Given the description of an element on the screen output the (x, y) to click on. 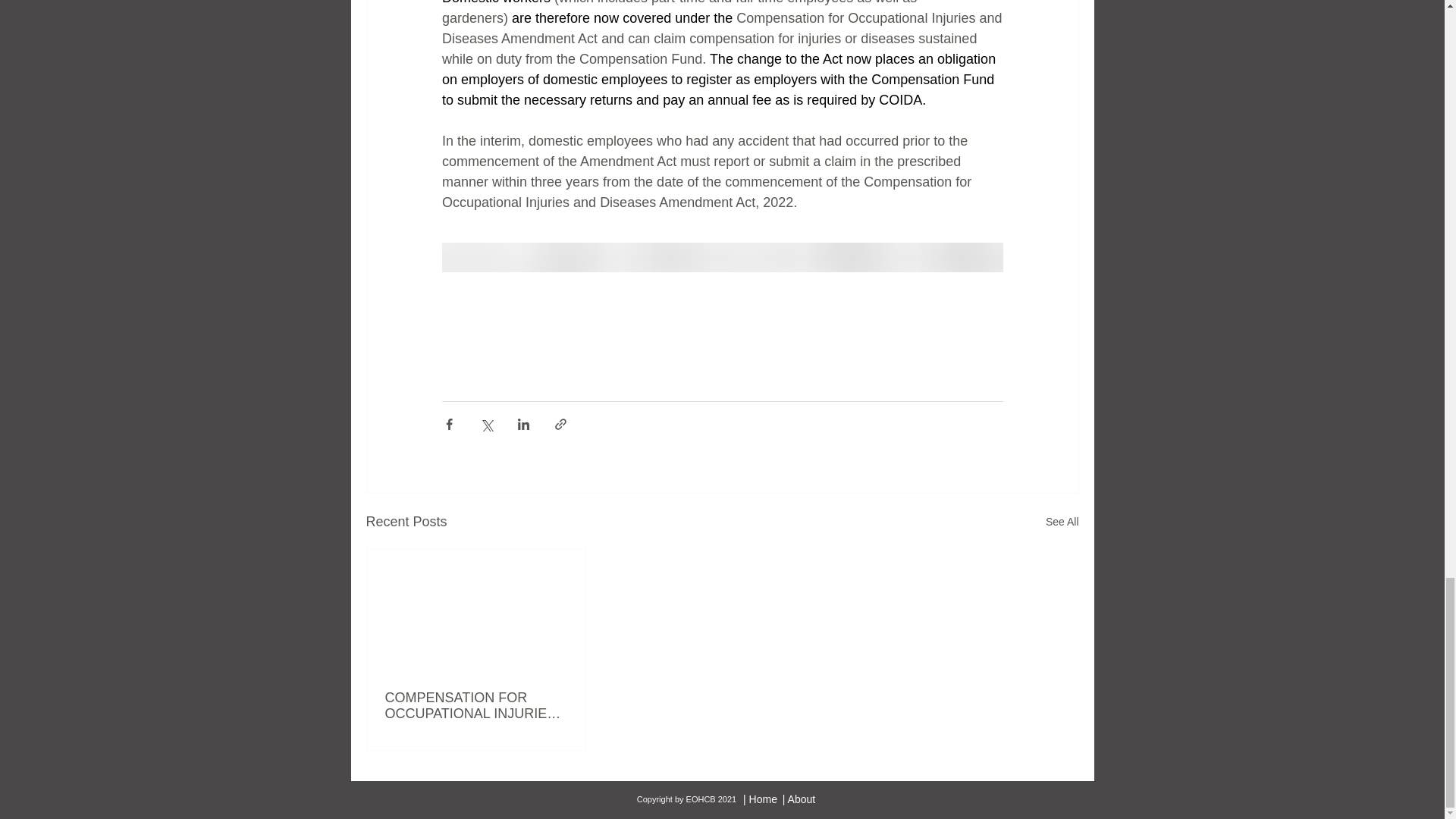
See All (1061, 522)
